Given the description of an element on the screen output the (x, y) to click on. 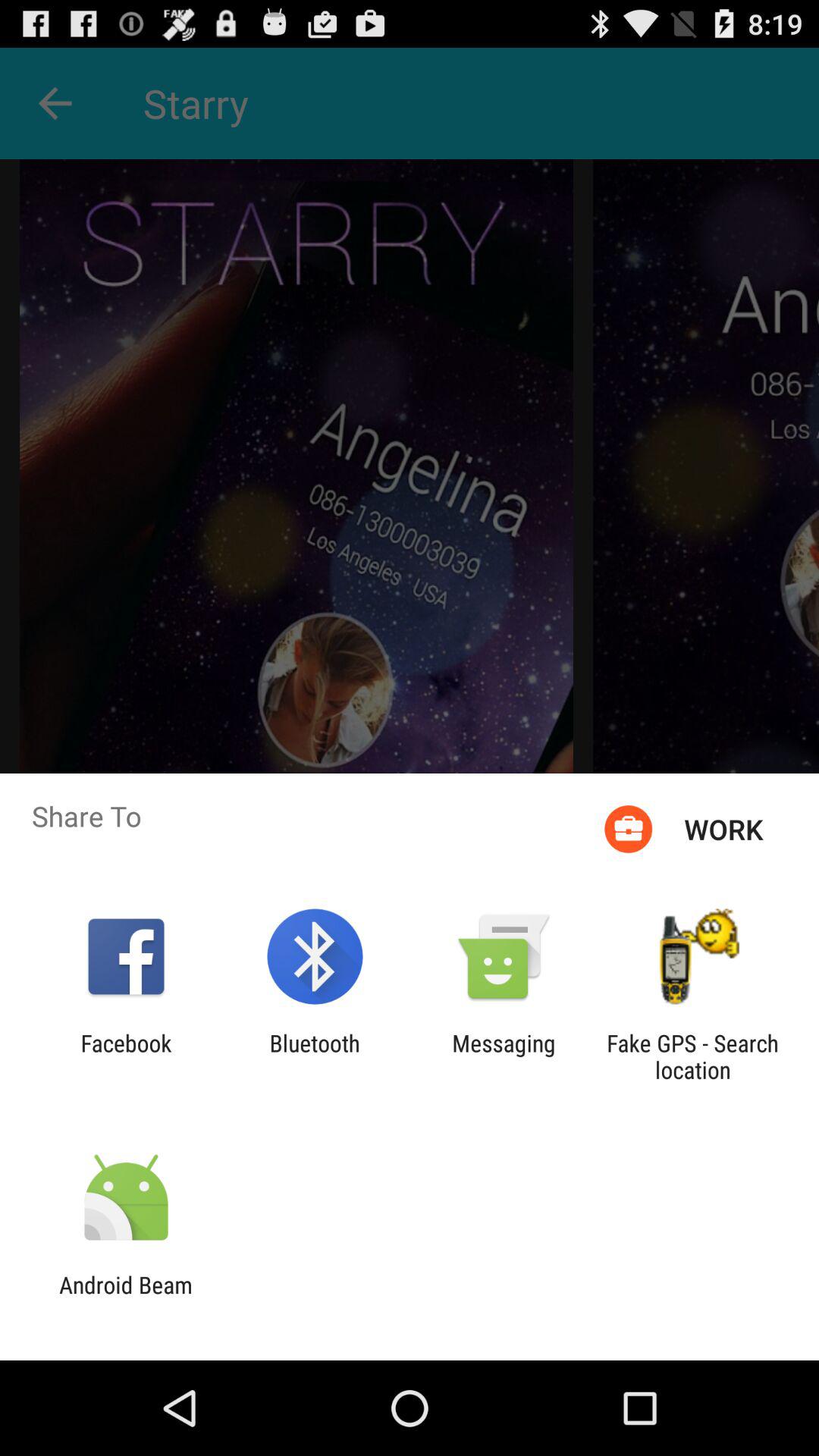
click the item next to the bluetooth icon (503, 1056)
